Given the description of an element on the screen output the (x, y) to click on. 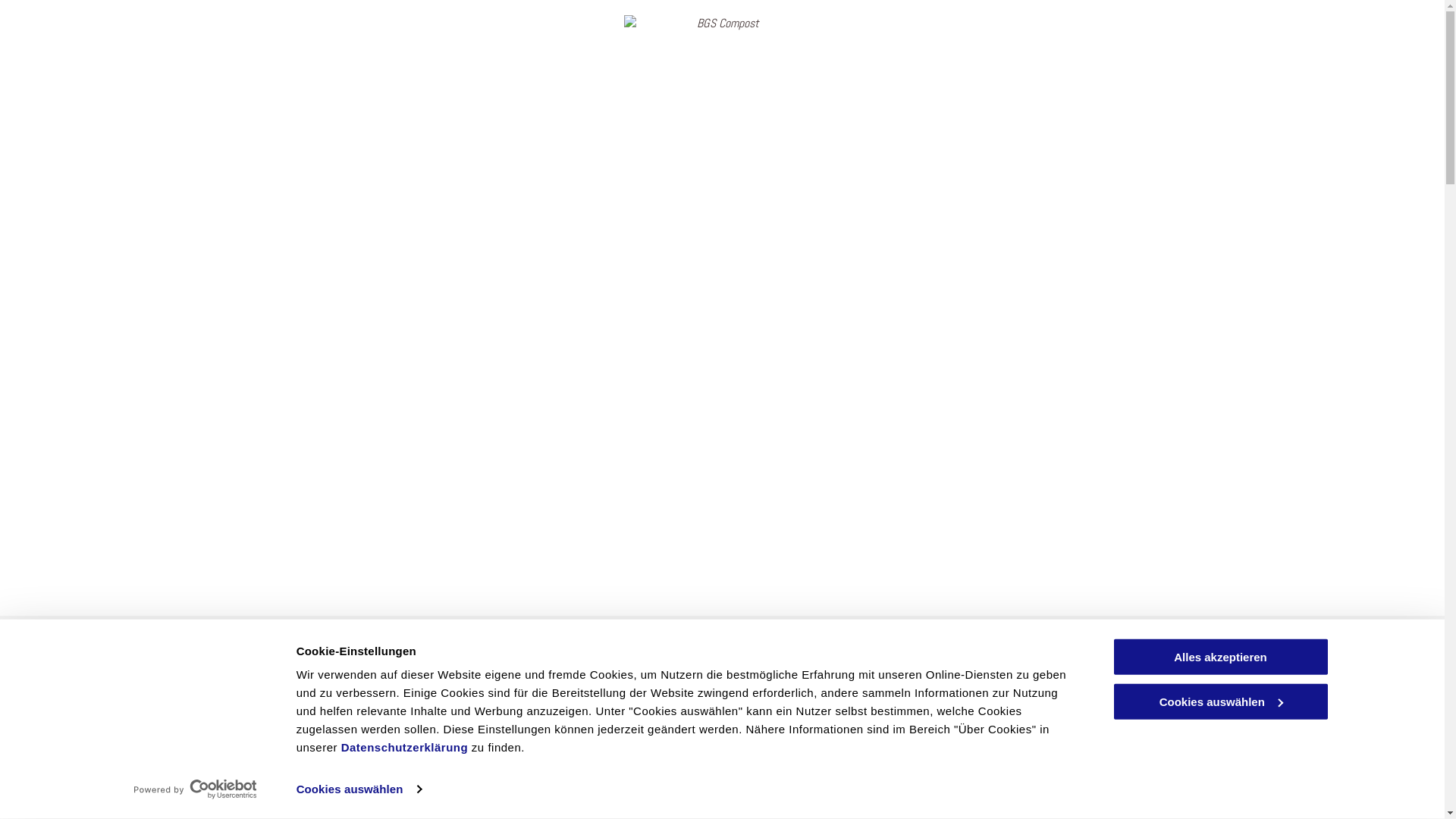
Alles akzeptieren Element type: text (1219, 656)
022 369 21 49 Element type: text (721, 757)
